Given the description of an element on the screen output the (x, y) to click on. 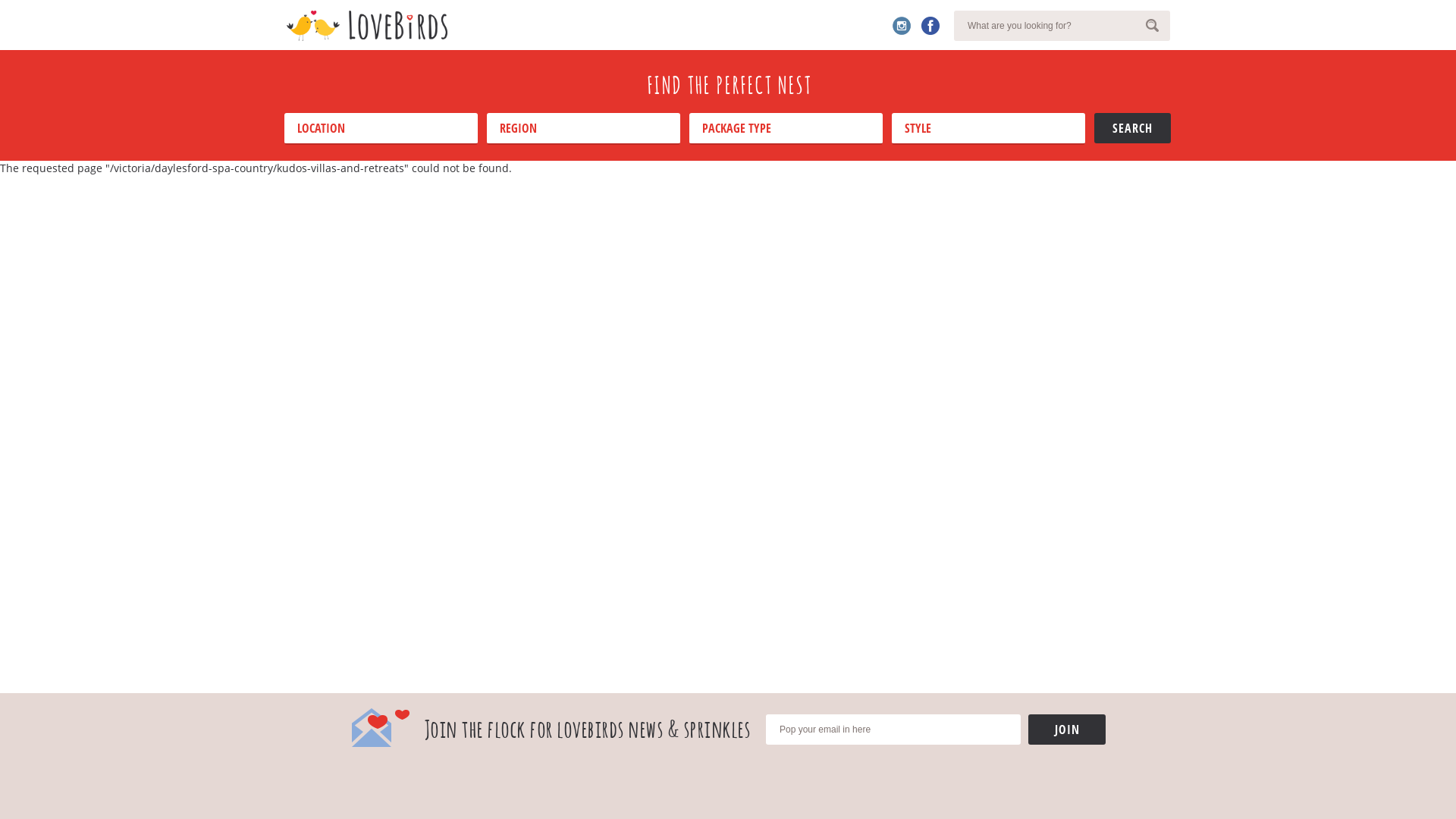
Skip to main content Element type: text (55, 0)
Join Element type: text (1066, 729)
Search Element type: text (1132, 127)
